Given the description of an element on the screen output the (x, y) to click on. 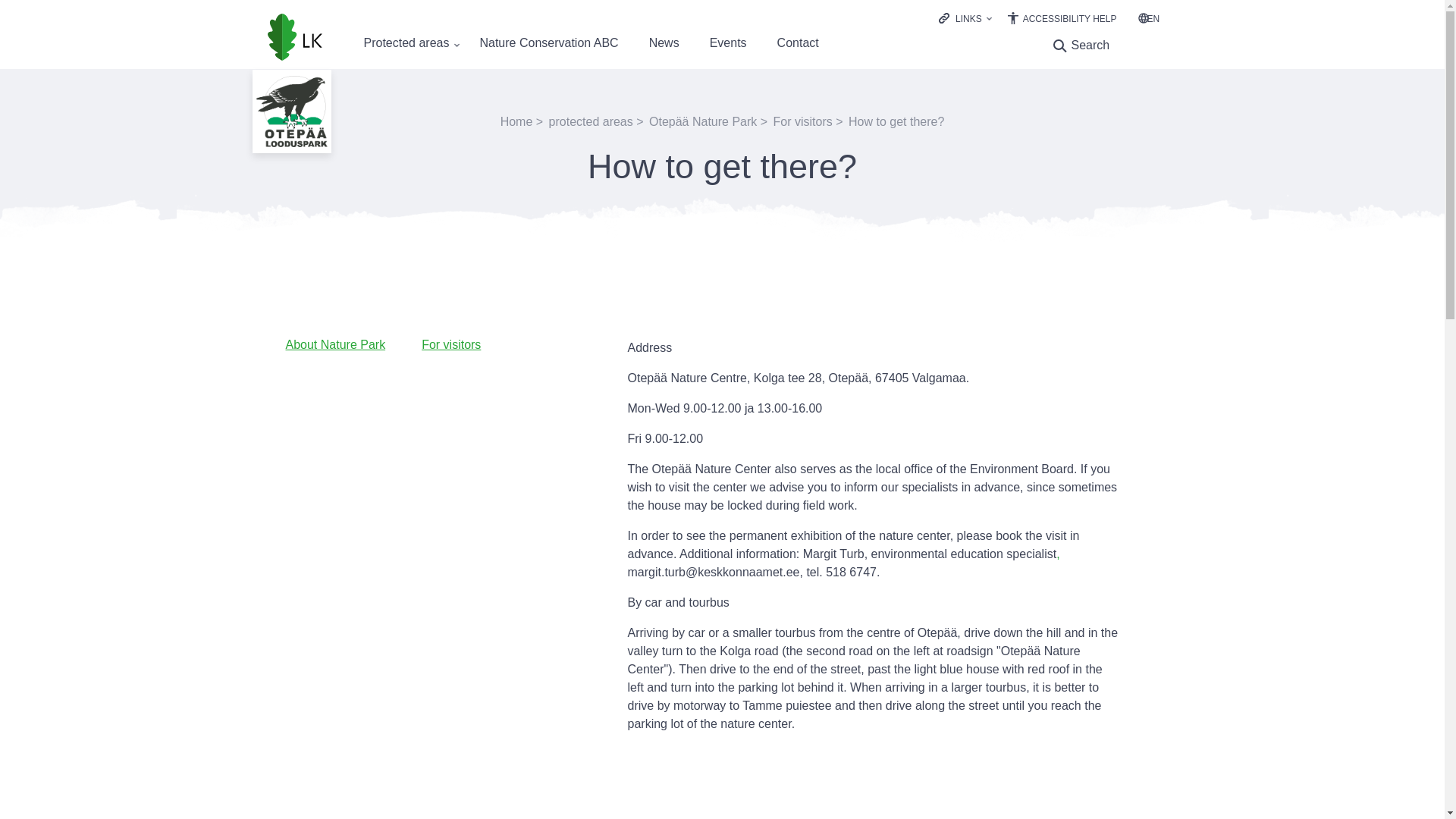
Contact (797, 42)
Nature Conservation ABC (548, 42)
News (664, 42)
LINKS (968, 18)
Search (1078, 45)
ACCESSIBILITY HELP (1061, 18)
Events (728, 42)
Protected areas (406, 42)
